Given the description of an element on the screen output the (x, y) to click on. 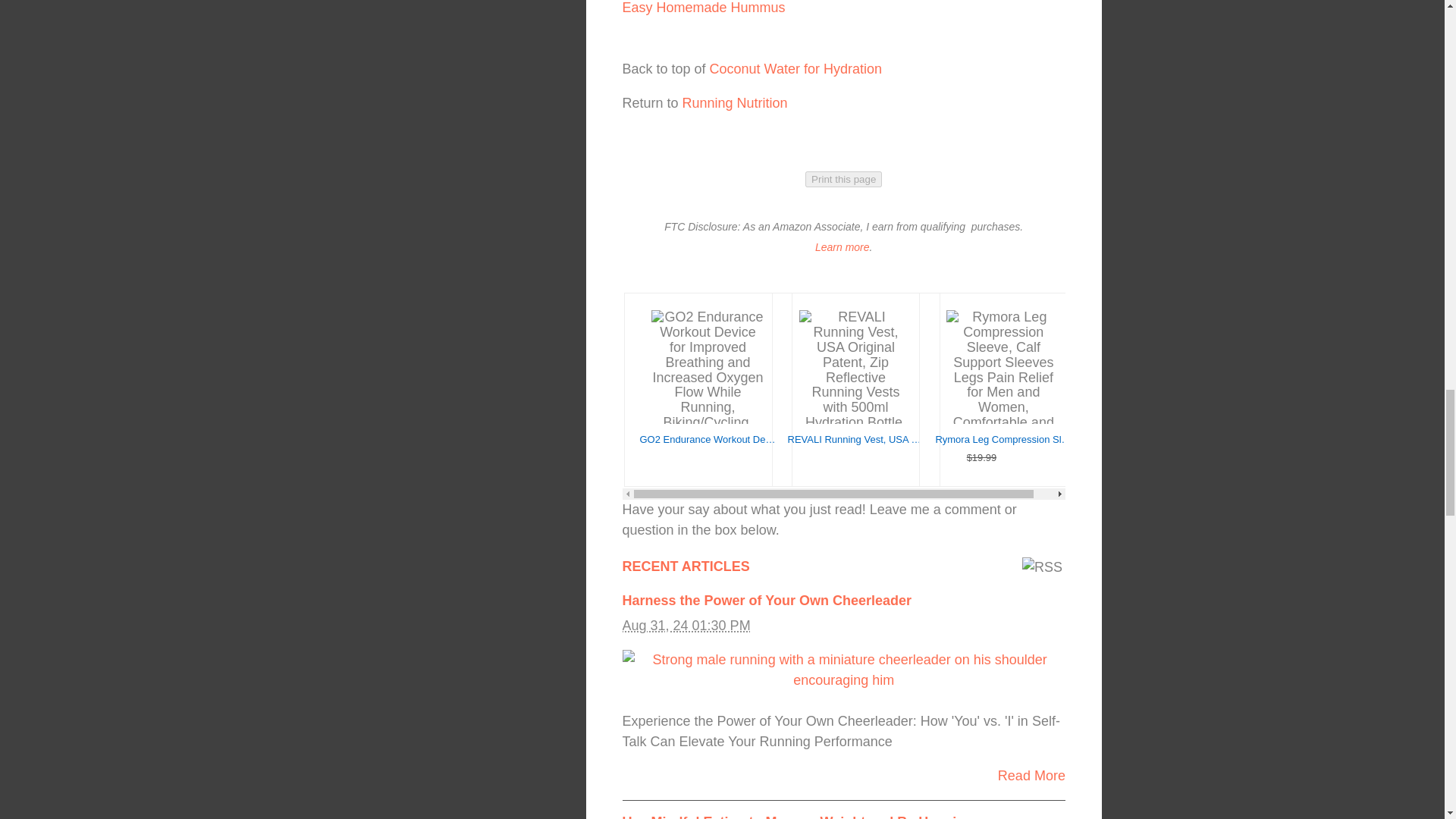
Coconut Water for Hydration (796, 68)
Easy Homemade Hummus (702, 7)
Running Nutrition (734, 102)
2024-08-31T13:30:06-0400 (685, 625)
